Given the description of an element on the screen output the (x, y) to click on. 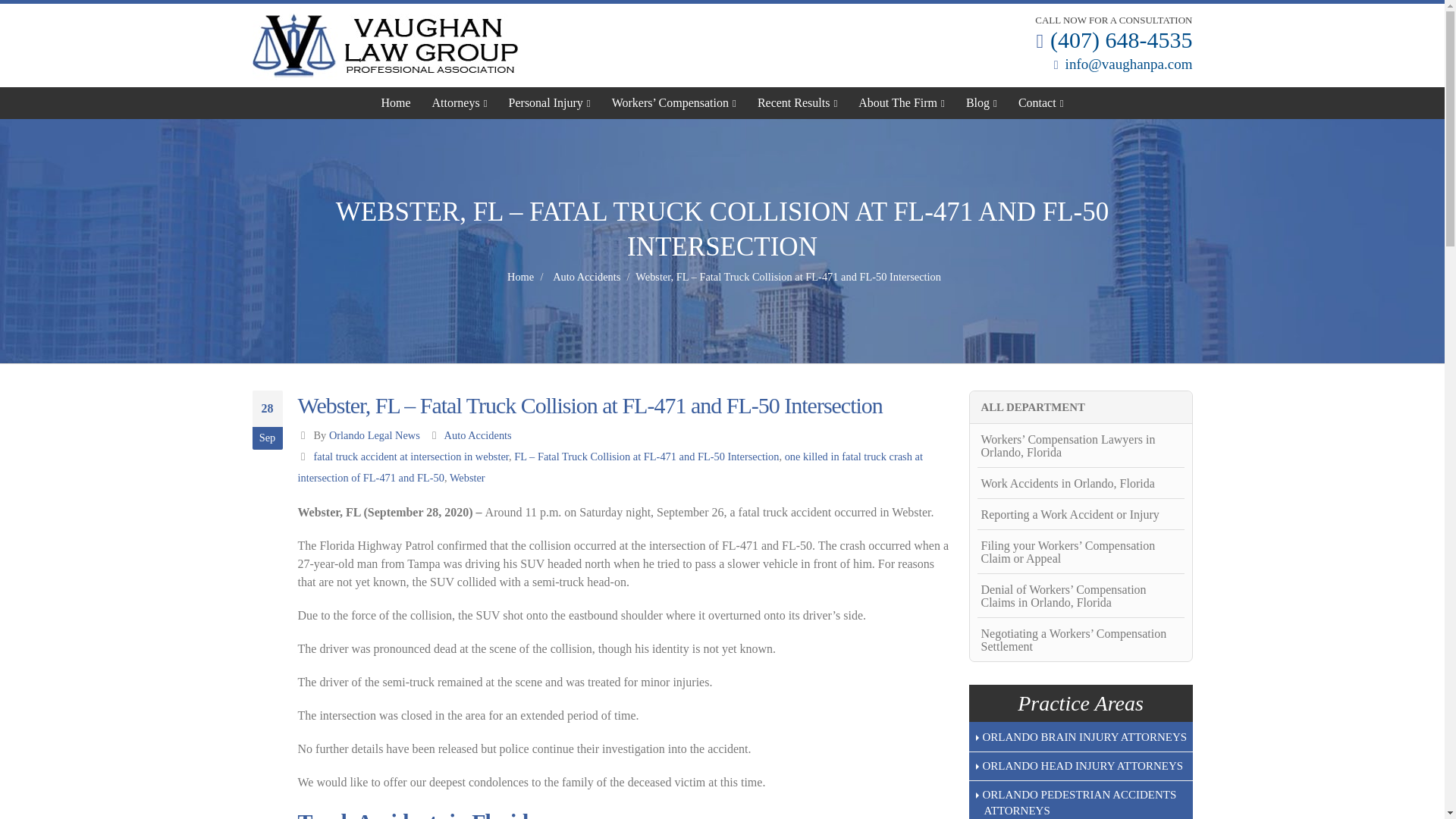
Attorneys (459, 102)
Personal Injury (549, 102)
Posts by Orlando Legal News (374, 435)
Home (395, 102)
